Given the description of an element on the screen output the (x, y) to click on. 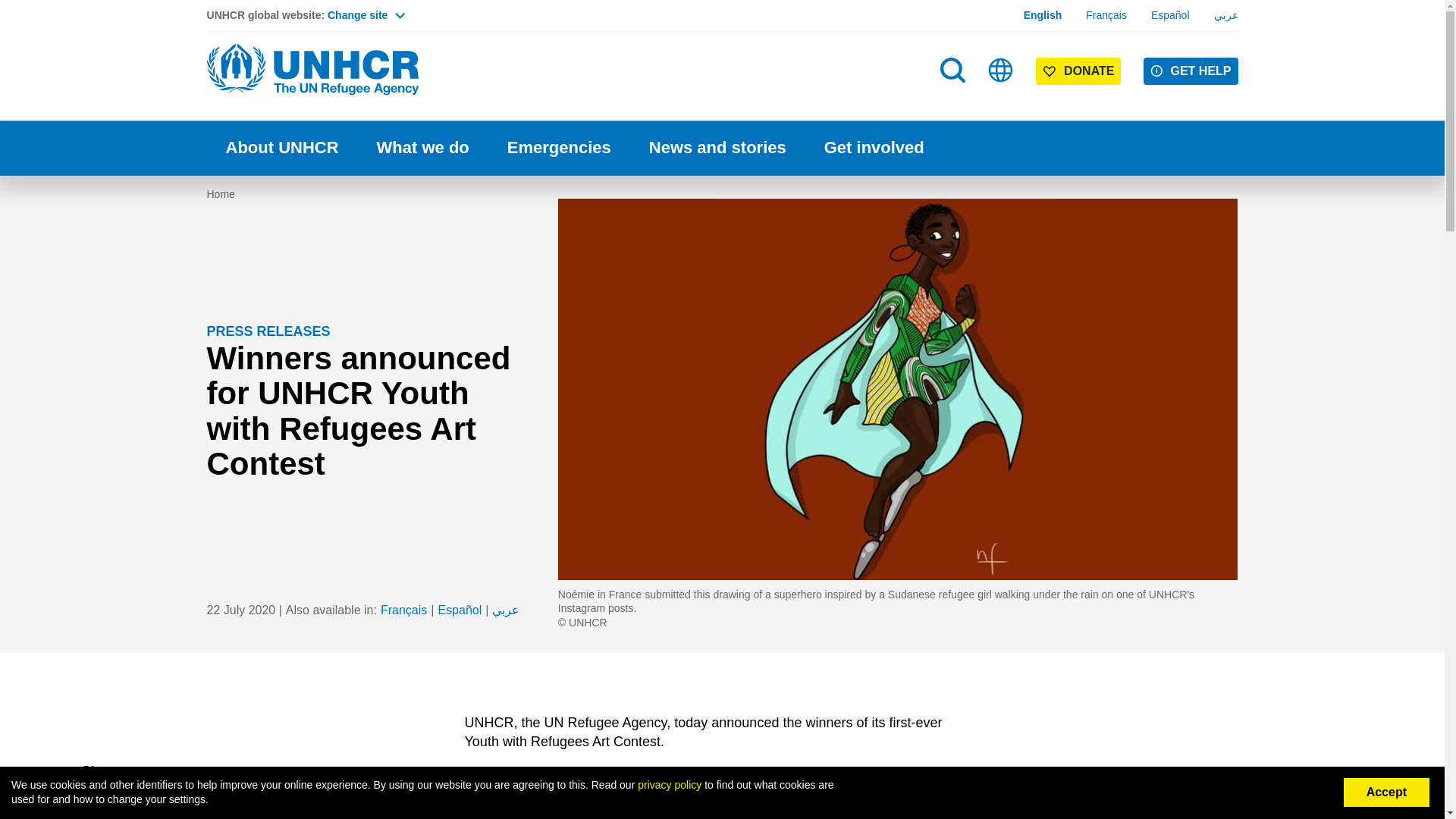
GET HELP (1189, 71)
Search (954, 99)
About UNHCR (281, 148)
English (1042, 15)
DONATE (1078, 71)
Home (312, 69)
Sites (1000, 69)
Skip to main content (721, 1)
Search (952, 69)
Change site (365, 15)
